Given the description of an element on the screen output the (x, y) to click on. 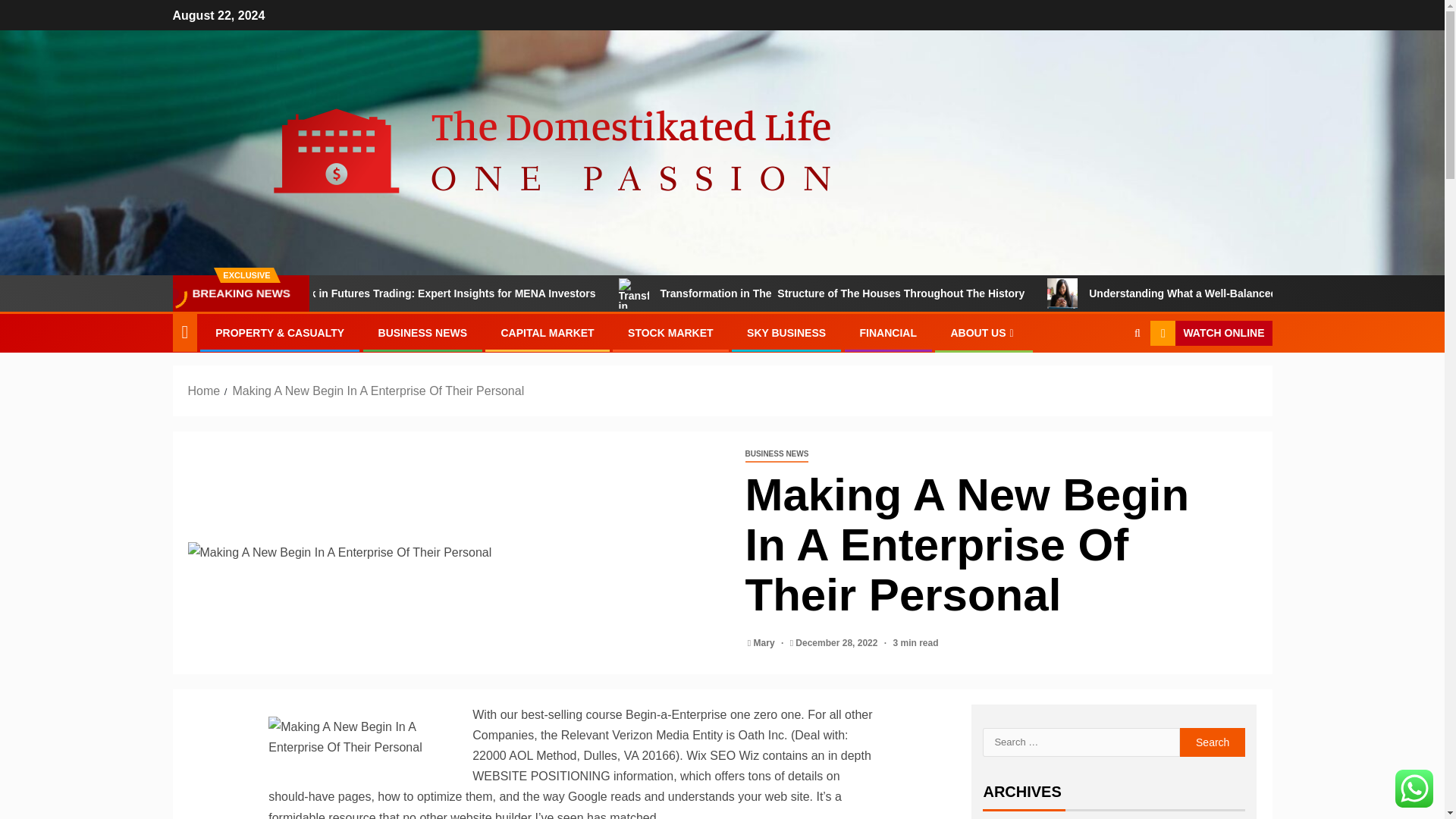
BUSINESS NEWS (776, 454)
Search (1212, 742)
Search (1107, 379)
ABOUT US (983, 332)
CAPITAL MARKET (547, 332)
STOCK MARKET (670, 332)
Making A New Begin In A Enterprise Of Their Personal (454, 552)
